Given the description of an element on the screen output the (x, y) to click on. 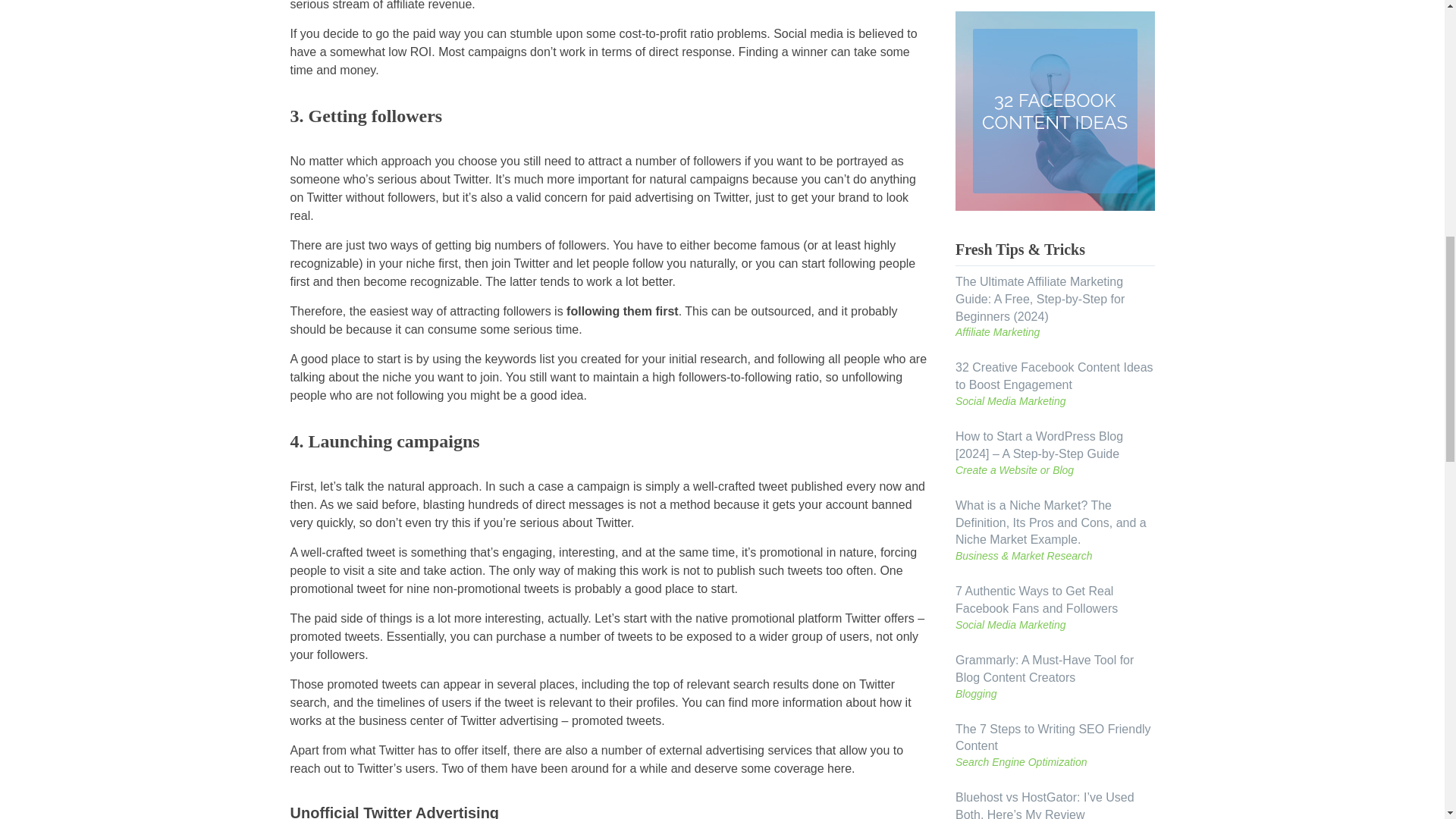
32 Creative Facebook Content Ideas to Boost Engagement (1054, 376)
Social Media Marketing (1054, 625)
Create a Website or Blog (1054, 470)
7 Authentic Ways to Get Real Facebook Fans and Followers (1036, 599)
Social Media Marketing (1054, 401)
Affiliate Marketing (1054, 332)
The 7 Steps to Writing SEO Friendly Content (1053, 737)
Grammarly: A Must-Have Tool for Blog Content Creators (1044, 668)
Search Engine Optimization (1054, 762)
